Given the description of an element on the screen output the (x, y) to click on. 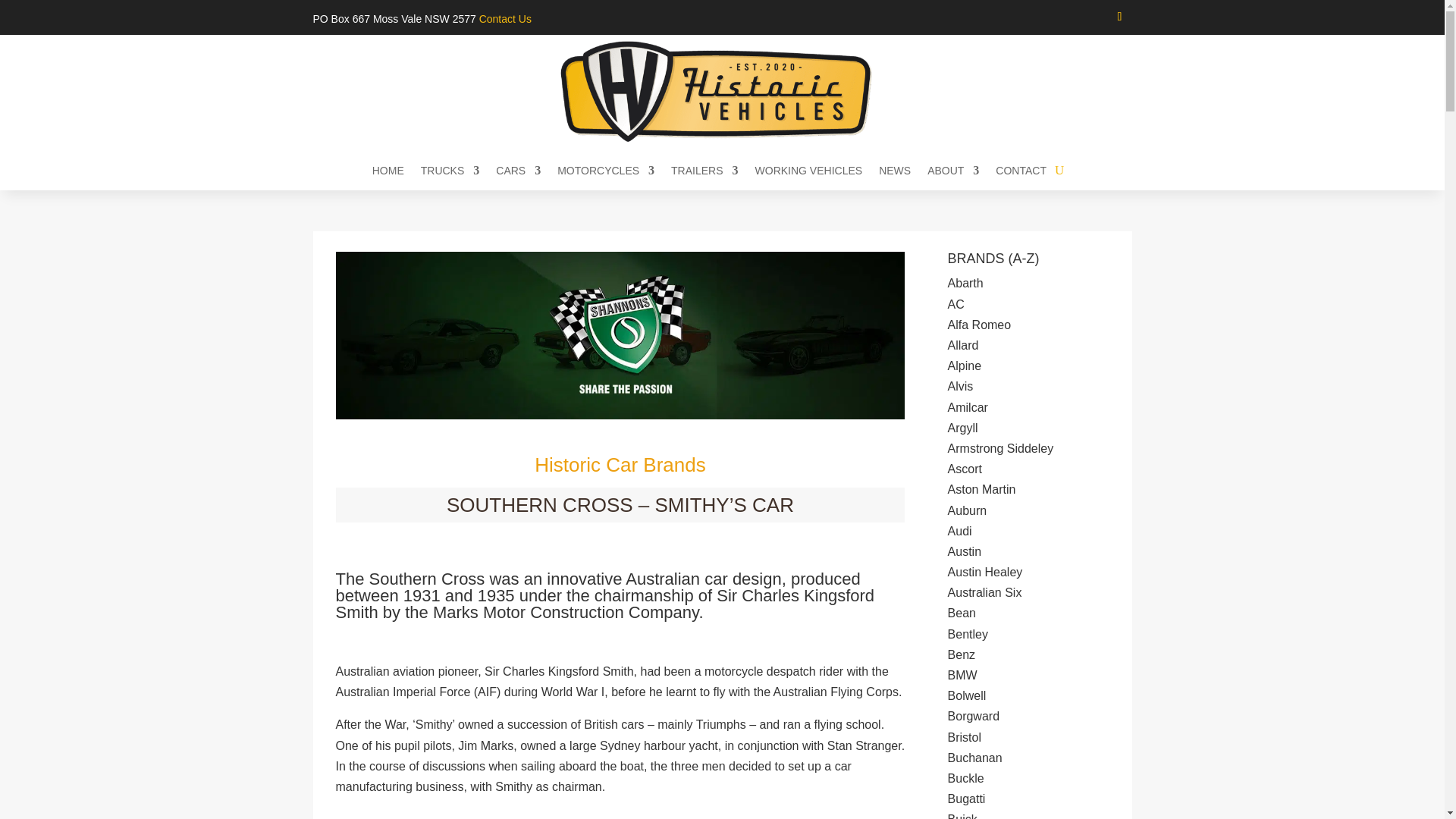
MOTORCYCLES (605, 173)
TRUCKS (450, 173)
Historic Vehicles (721, 91)
TRAILERS (704, 173)
Contact Us (505, 19)
Follow on Youtube (1118, 16)
HOME (388, 173)
CARS (518, 173)
